Given the description of an element on the screen output the (x, y) to click on. 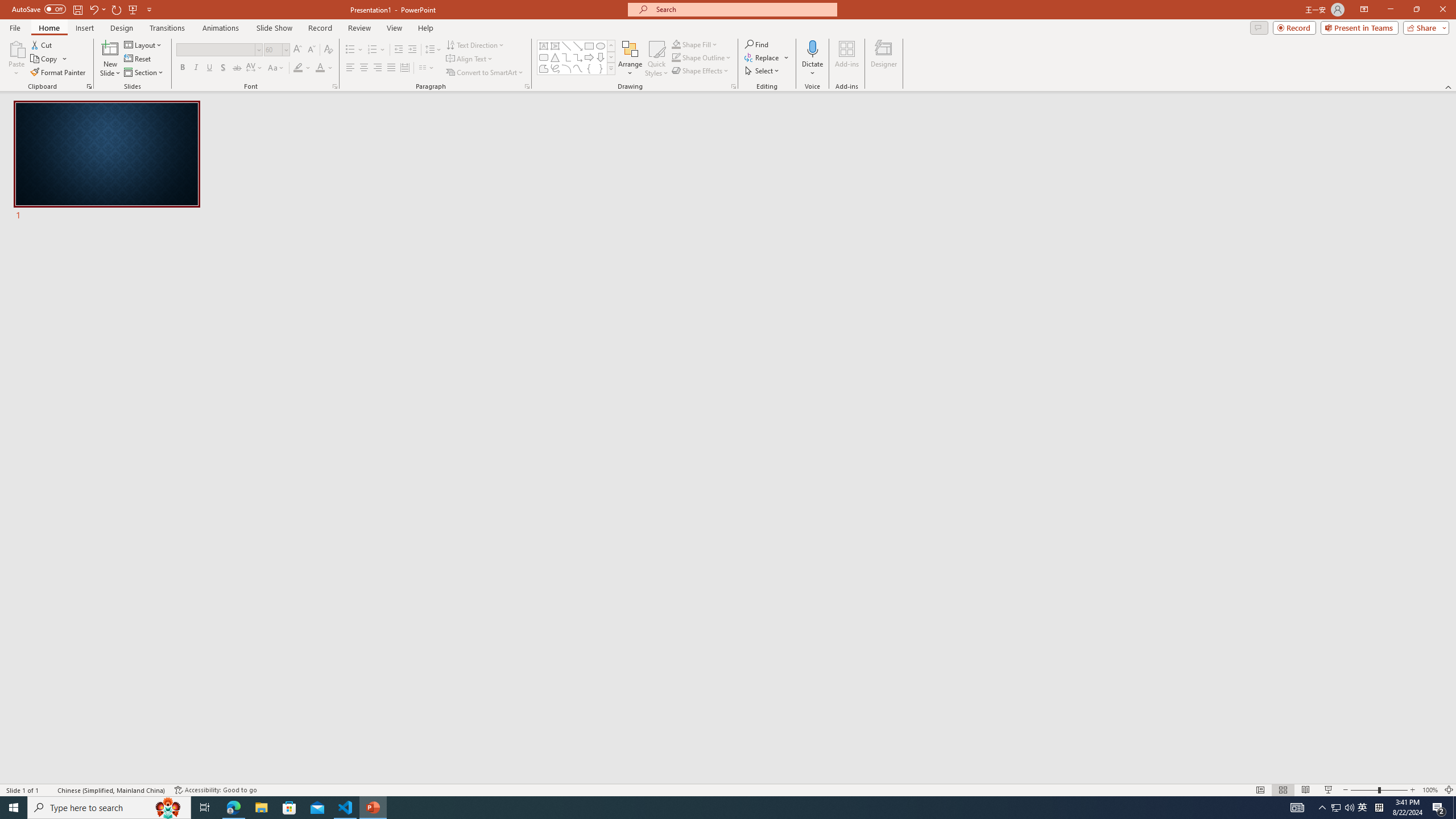
Justify (390, 67)
AutomationID: ShapesInsertGallery (576, 57)
Paragraph... (526, 85)
Shape Outline (701, 56)
Freeform: Scribble (554, 68)
Arrow: Right (589, 57)
